Given the description of an element on the screen output the (x, y) to click on. 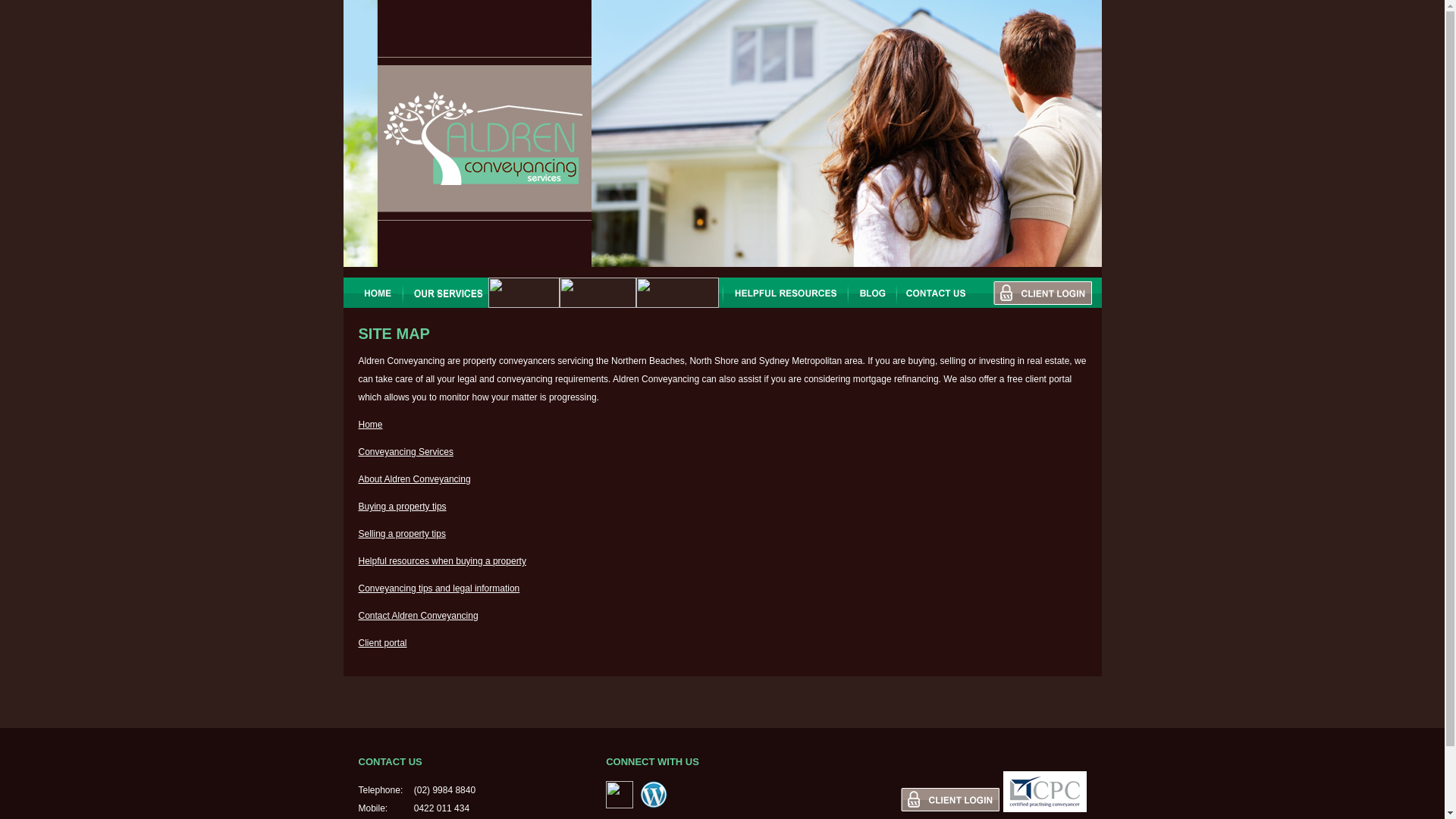
About Aldren Conveyancing (414, 479)
Home (369, 424)
Client portal (382, 643)
Conveyancing tips and legal information (438, 588)
Conveyancing Services (405, 451)
Contact Aldren Conveyancing (417, 615)
Buying a property tips (401, 506)
Helpful resources when buying a property (441, 561)
Selling a property tips (401, 533)
